Given the description of an element on the screen output the (x, y) to click on. 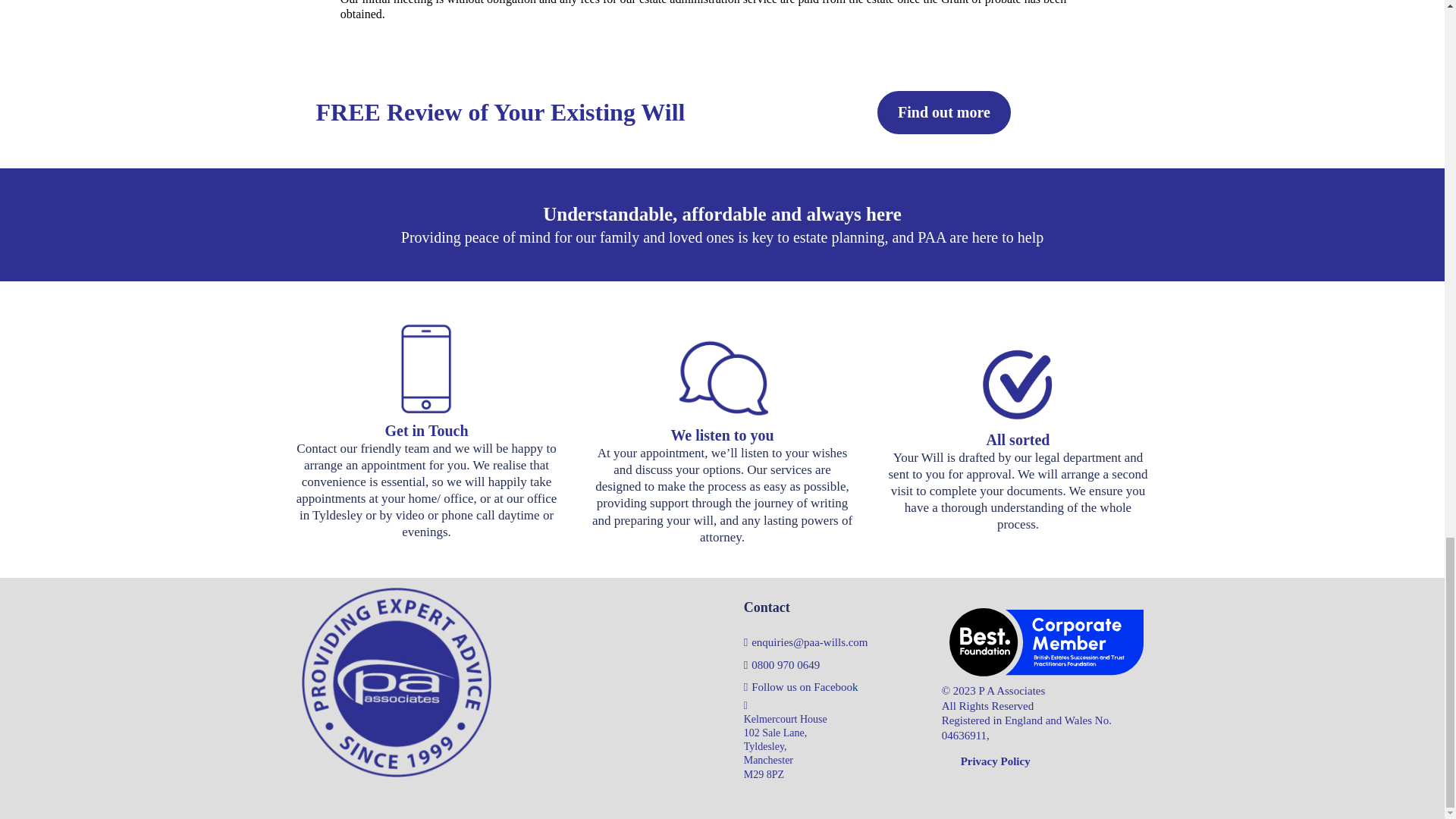
Follow us on Faceboo (801, 686)
Find out more (943, 112)
Privacy Policy (995, 760)
